Given the description of an element on the screen output the (x, y) to click on. 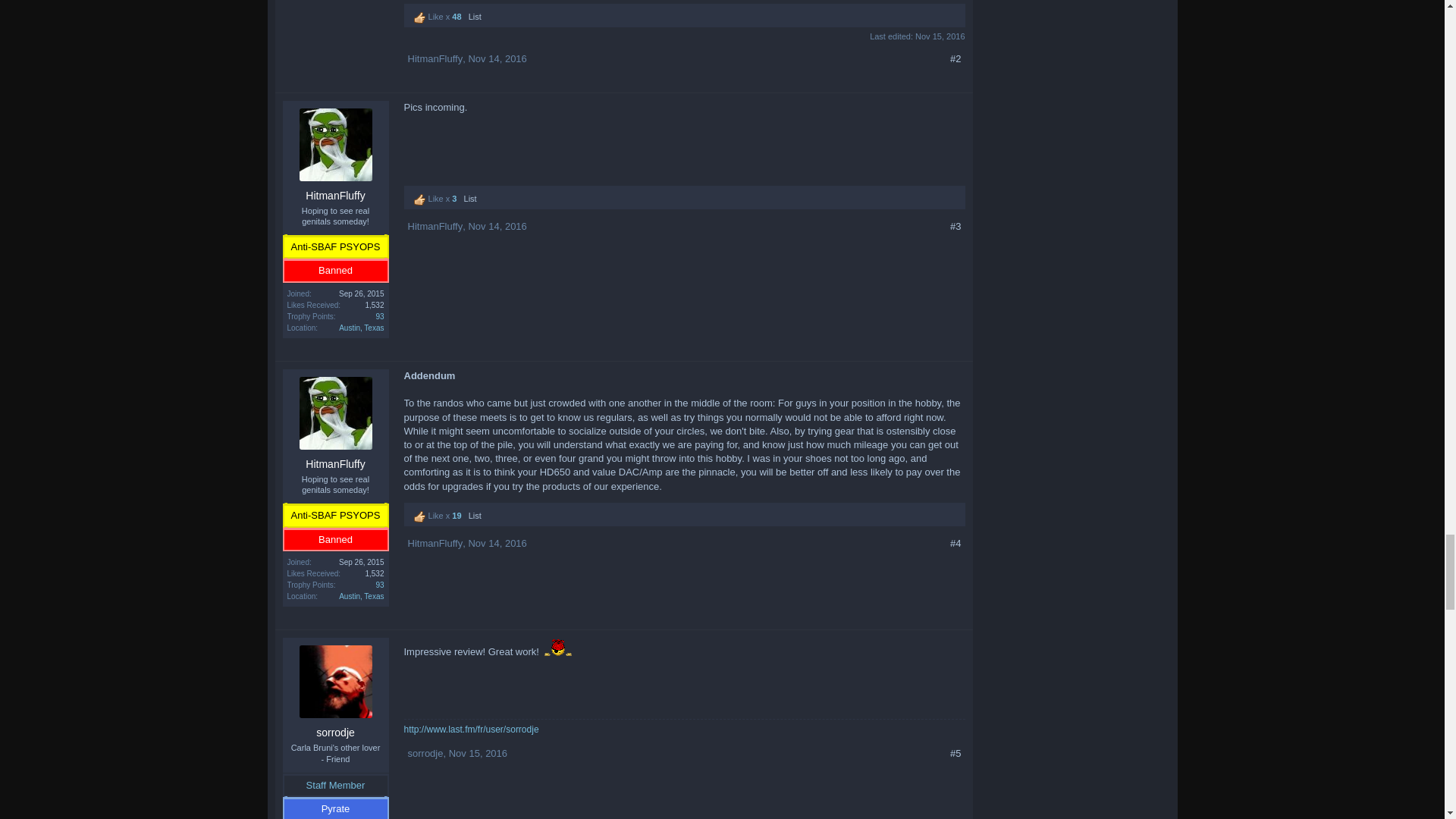
Like (419, 18)
Like (419, 517)
Permalink (496, 542)
Nov 15, 2016 at 8:20 AM (939, 35)
Permalink (496, 225)
Like (419, 200)
Permalink (496, 58)
